Given the description of an element on the screen output the (x, y) to click on. 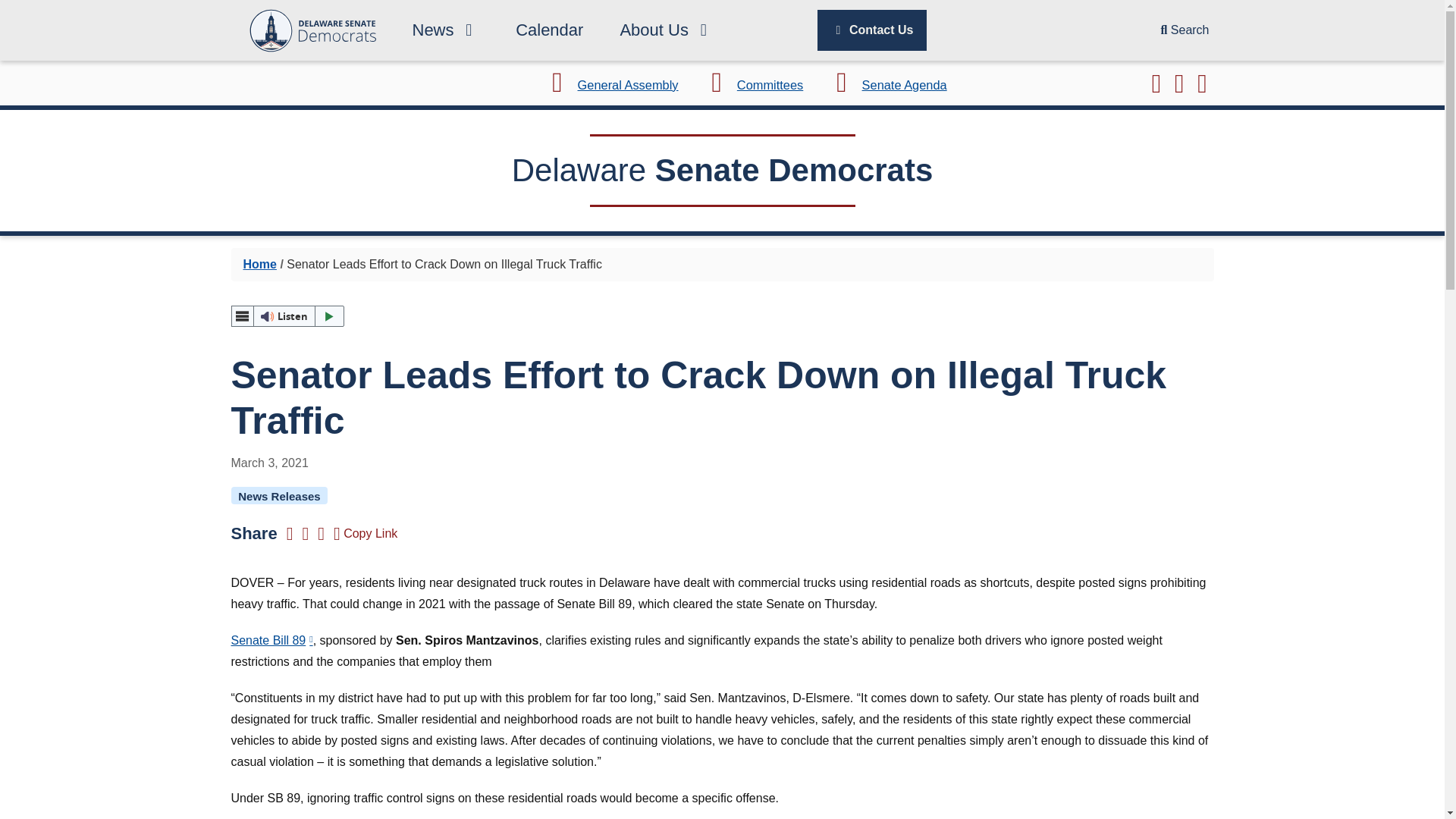
Search (1184, 30)
webReader menu (241, 315)
Senate Bill 89 (271, 640)
This external link opens in a new window or tab. (885, 84)
About Us (666, 30)
Go to home page. (311, 30)
General Assembly (609, 84)
This external link opens in a new window or tab. (609, 84)
This external link opens in a new window or tab. (750, 84)
Committees (750, 84)
Listen to this page using ReadSpeaker (286, 315)
News Releases (278, 495)
Calendar (549, 30)
Home (259, 264)
This external link opens in a new window or tab. (271, 640)
